Given the description of an element on the screen output the (x, y) to click on. 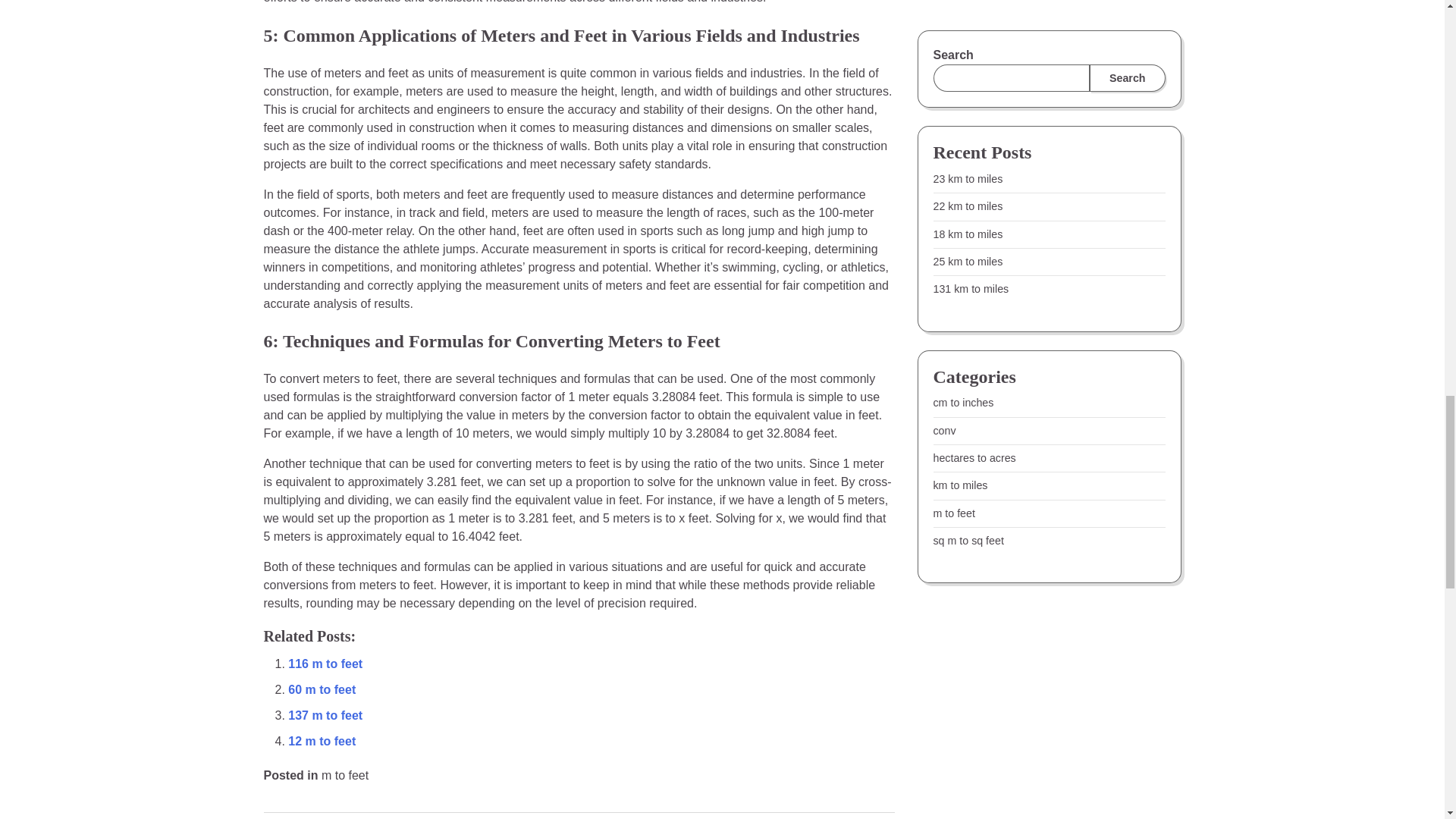
12 m to feet (321, 740)
12 m to feet (321, 740)
116 m to feet (325, 663)
137 m to feet (325, 715)
137 m to feet (325, 715)
116 m to feet (325, 663)
m to feet (344, 775)
60 m to feet (321, 689)
60 m to feet (321, 689)
